Given the description of an element on the screen output the (x, y) to click on. 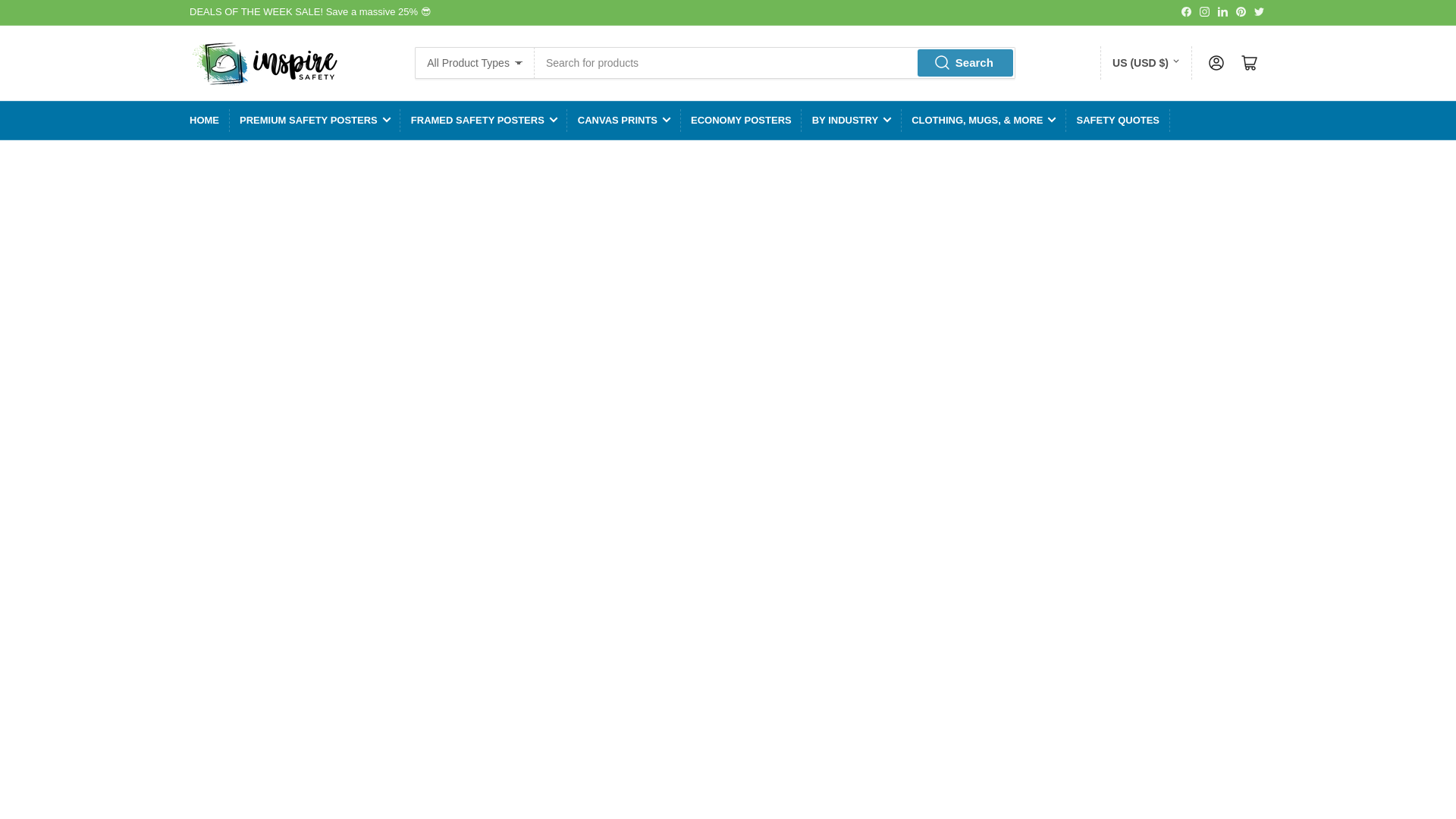
Twitter (1259, 11)
Search (964, 62)
Instagram (1203, 11)
Pinterest (1240, 11)
LinkedIn (1222, 11)
Facebook (1186, 11)
